Given the description of an element on the screen output the (x, y) to click on. 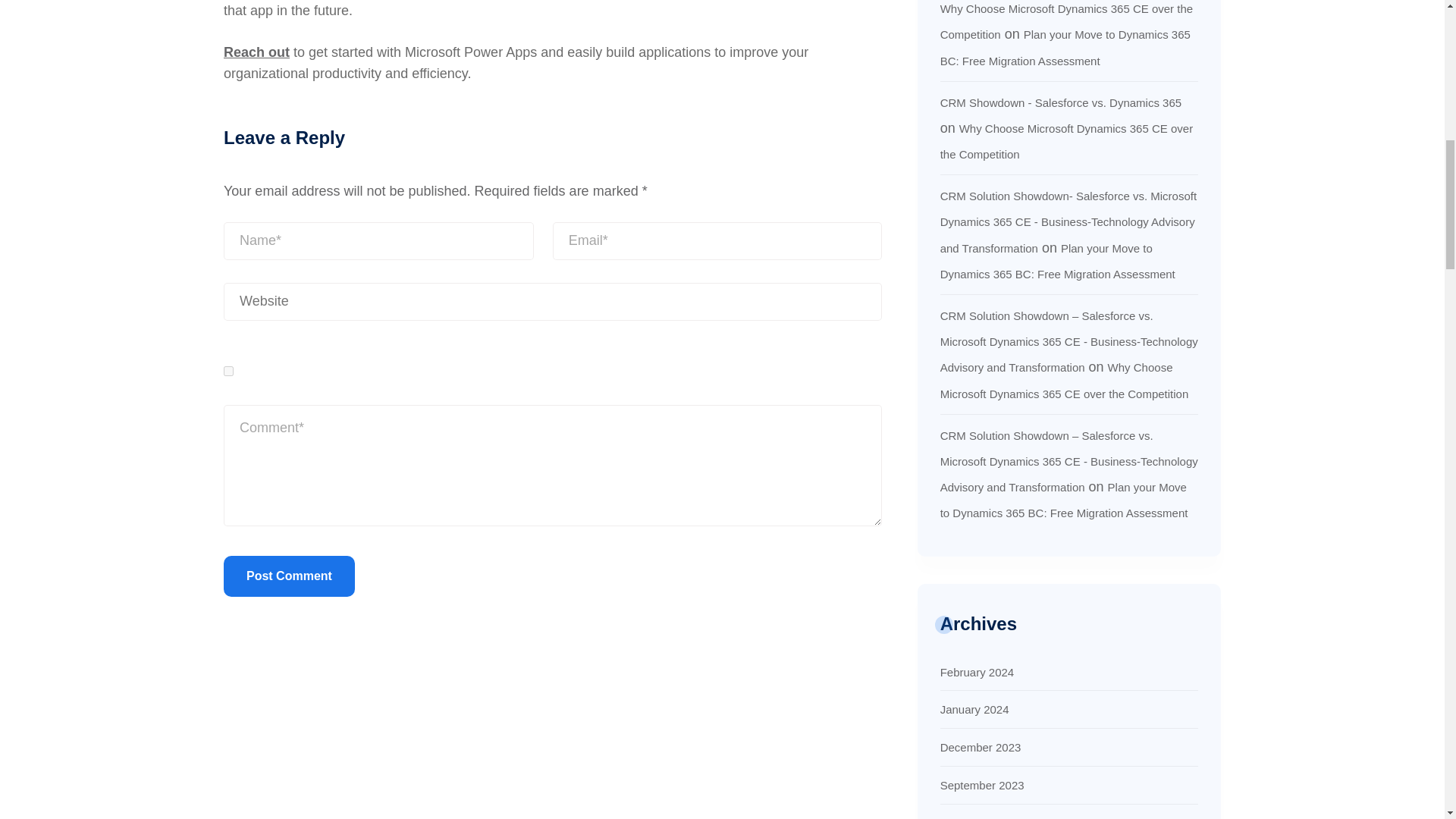
Post Comment (289, 575)
yes (228, 370)
